Given the description of an element on the screen output the (x, y) to click on. 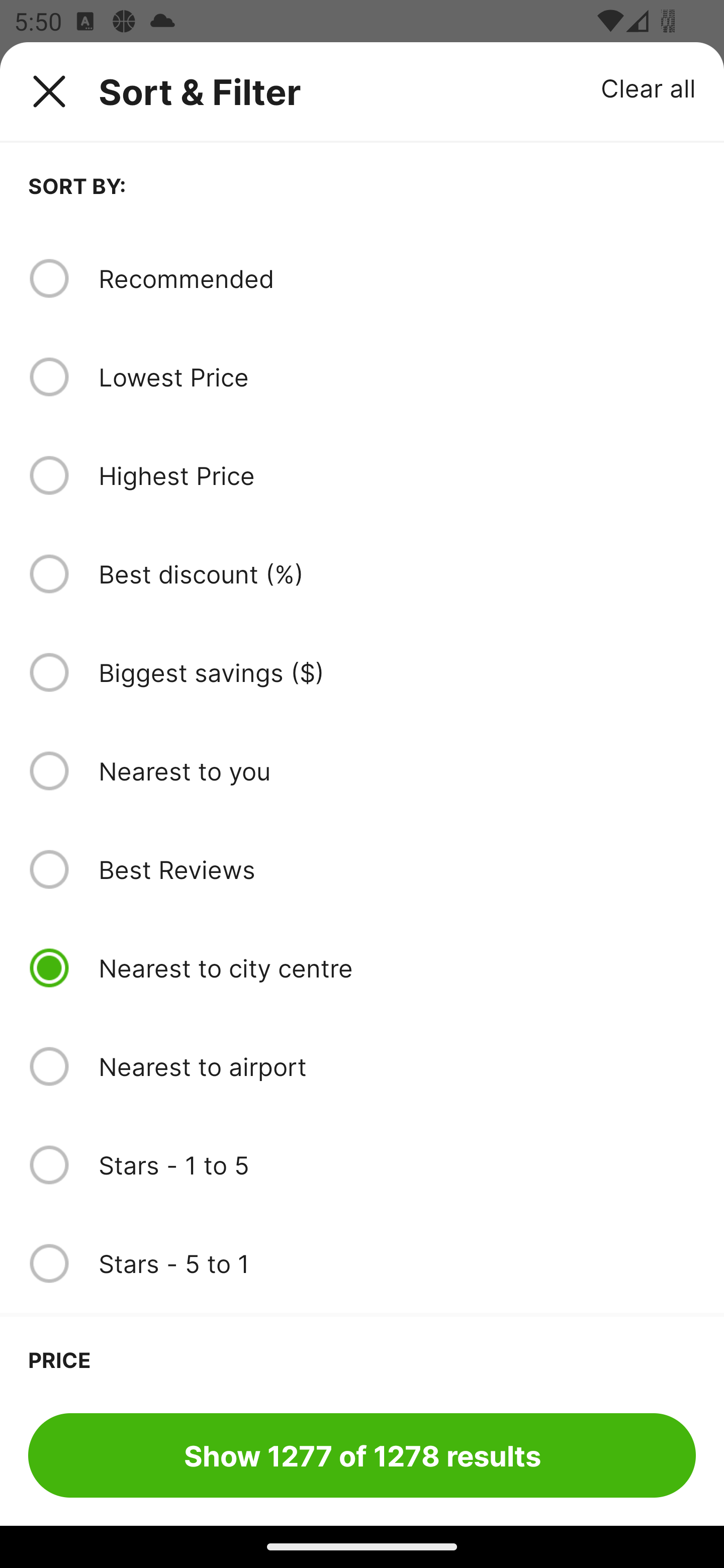
Clear all (648, 87)
Recommended  (396, 278)
Lowest Price (396, 377)
Highest Price (396, 474)
Best discount (%) (396, 573)
Biggest savings ($) (396, 672)
Nearest to you (396, 770)
Best Reviews (396, 869)
Nearest to city centre (396, 968)
Nearest to airport (396, 1065)
Stars - 1 to 5 (396, 1164)
Stars - 5 to 1 (396, 1263)
Show 1277 of 1278 results (361, 1454)
